Given the description of an element on the screen output the (x, y) to click on. 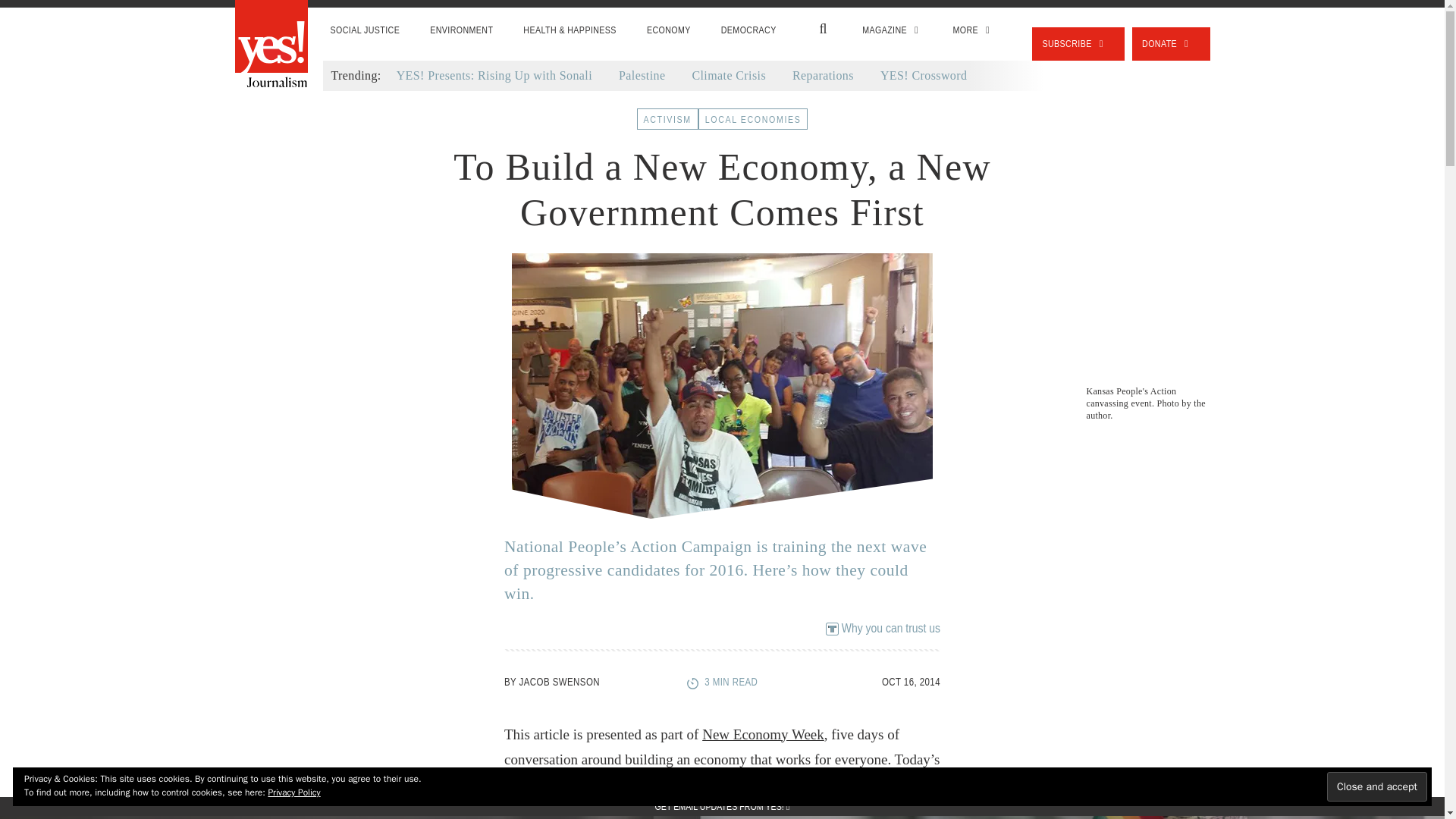
SUBSCRIBE (1078, 43)
MORE (973, 30)
DONATE (1170, 43)
ECONOMY (668, 30)
DEMOCRACY (749, 30)
ENVIRONMENT (461, 30)
SOCIAL JUSTICE (364, 30)
Close and accept (1376, 786)
MAGAZINE (892, 30)
